Given the description of an element on the screen output the (x, y) to click on. 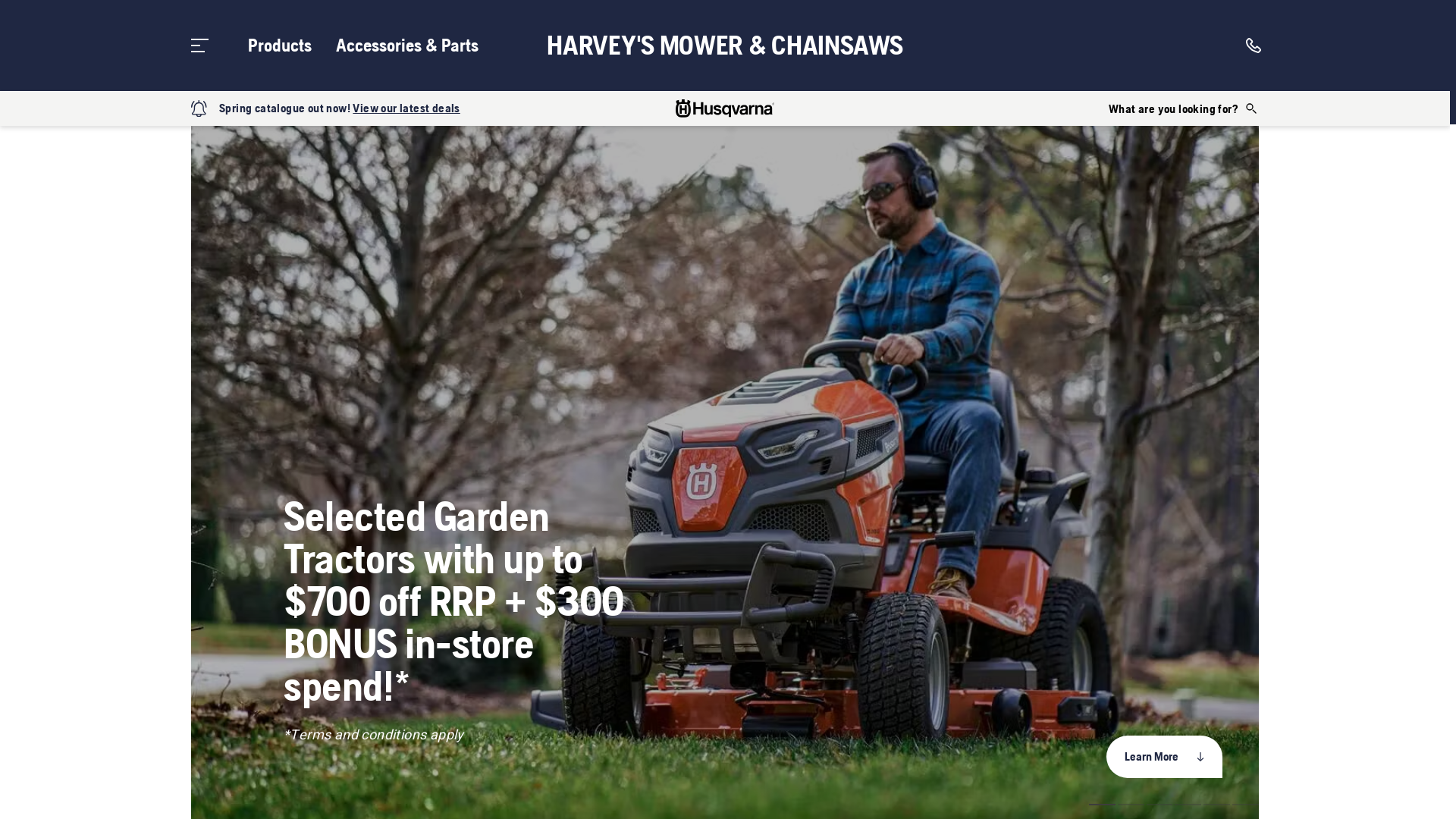
Products Element type: text (279, 45)
Accessories & Parts Element type: text (406, 45)
HARVEY'S MOWER & CHAINSAWS Element type: text (724, 45)
What are you looking for? Element type: text (1183, 108)
Learn More Element type: text (1164, 756)
View our latest deals Element type: text (405, 107)
